Given the description of an element on the screen output the (x, y) to click on. 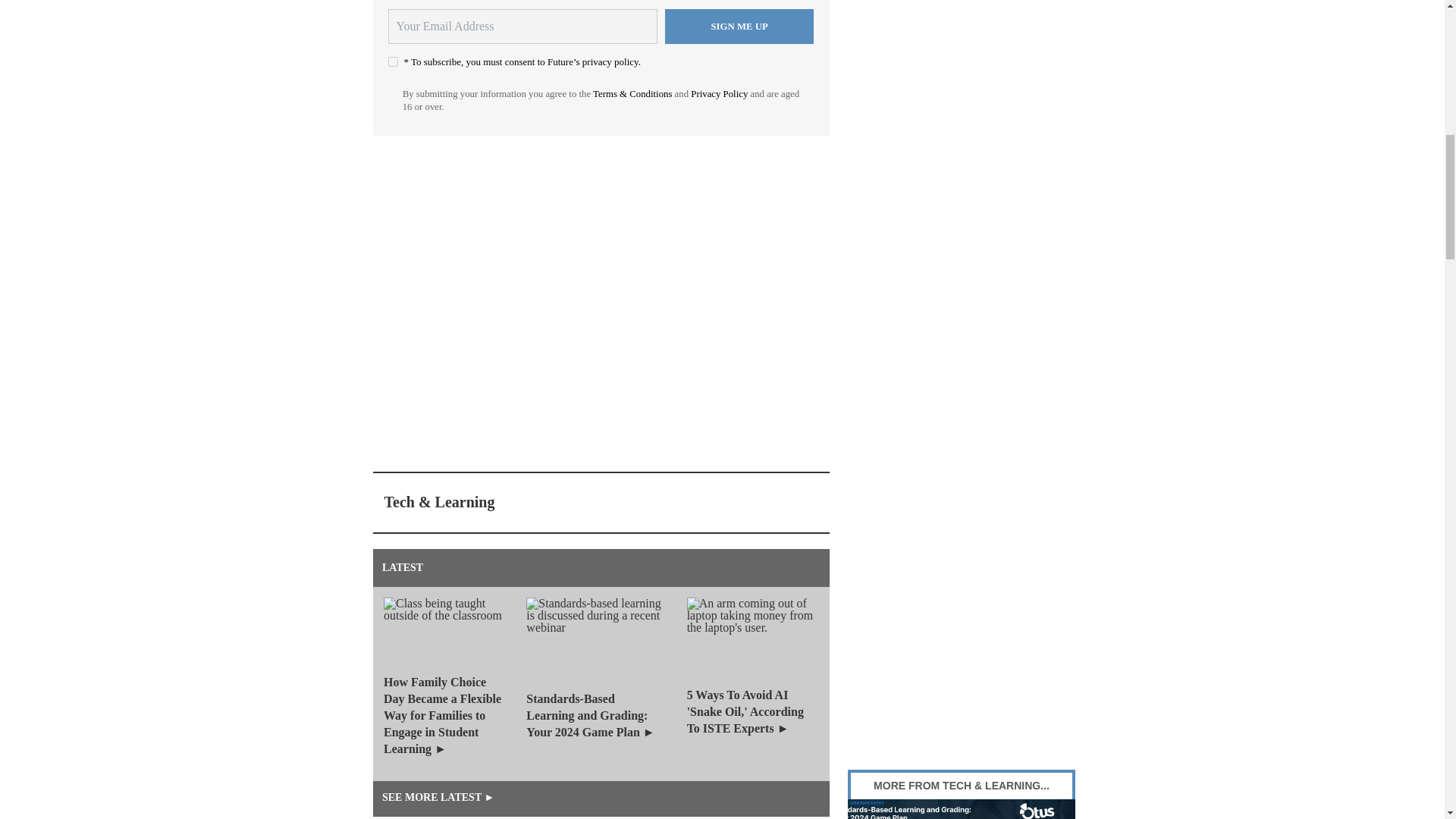
Standards-Based Learning and Grading: Your 2024 Game Plan (961, 809)
Sign me up (739, 26)
on (392, 61)
Privacy Policy (719, 93)
Sign me up (739, 26)
